Given the description of an element on the screen output the (x, y) to click on. 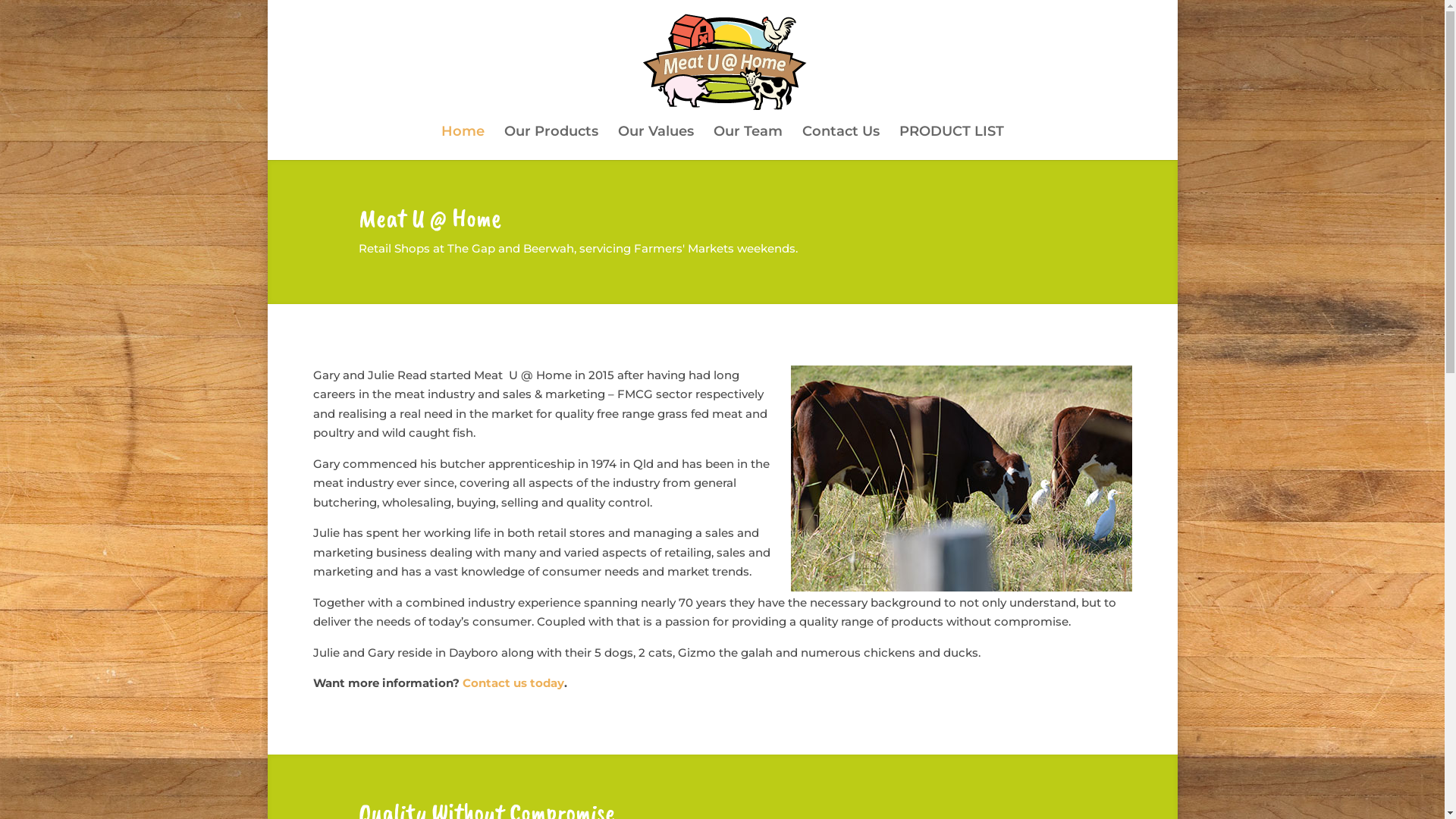
PRODUCT LIST Element type: text (951, 142)
Contact Us Element type: text (840, 142)
Our Products Element type: text (550, 142)
Our Team Element type: text (746, 142)
Our Values Element type: text (655, 142)
Contact us today Element type: text (513, 682)
Home Element type: text (462, 142)
